Given the description of an element on the screen output the (x, y) to click on. 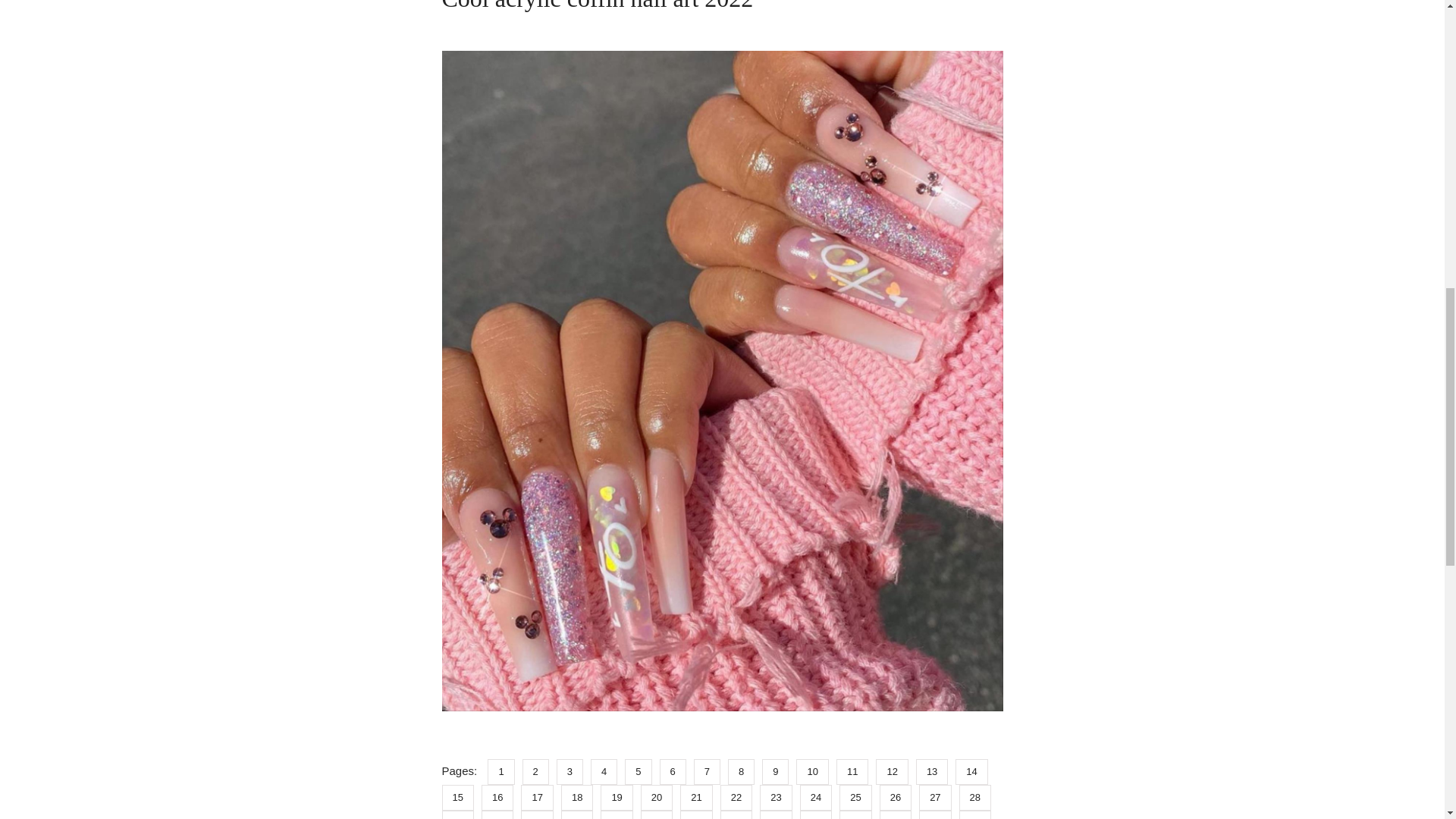
24 (819, 796)
6 (676, 770)
26 (898, 796)
10 (815, 770)
18 (579, 796)
21 (699, 796)
14 (974, 770)
19 (619, 796)
4 (607, 770)
2 (539, 770)
